Given the description of an element on the screen output the (x, y) to click on. 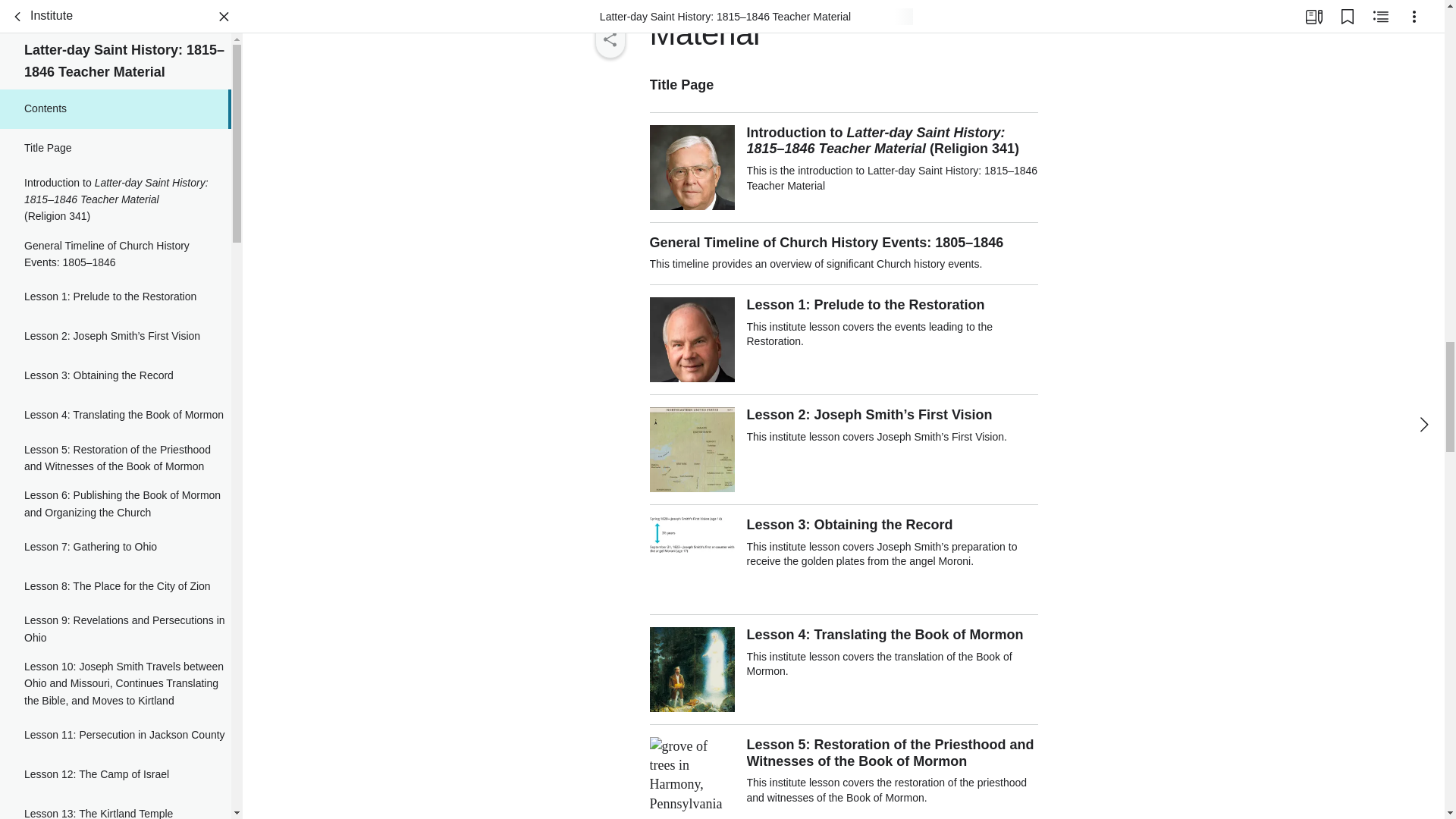
Share (608, 39)
Lesson 4: Translating the Book of Mormon (115, 267)
Lesson 9: Revelations and Persecutions in Ohio (115, 480)
Lesson 7: Gathering to Ohio (115, 398)
Lesson 15: The First Mission to Great Britain (115, 747)
Lesson 14: Apostasy in Kirtland (115, 704)
Lesson 16: The Saints Gather in Northern Missouri (115, 794)
Lesson 11: Persecution in Jackson County (115, 586)
